Given the description of an element on the screen output the (x, y) to click on. 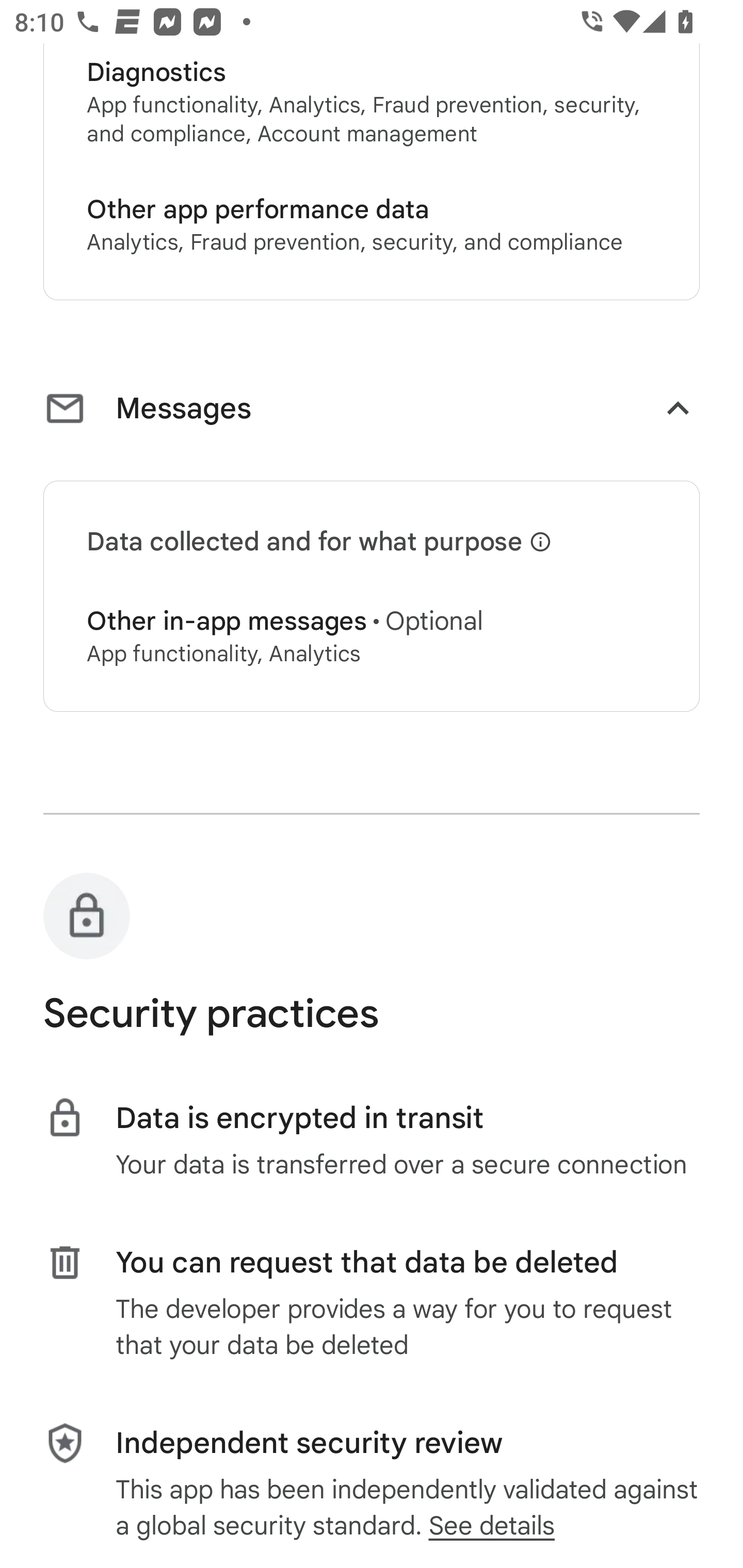
heading Messages Collapse button (371, 411)
